Given the description of an element on the screen output the (x, y) to click on. 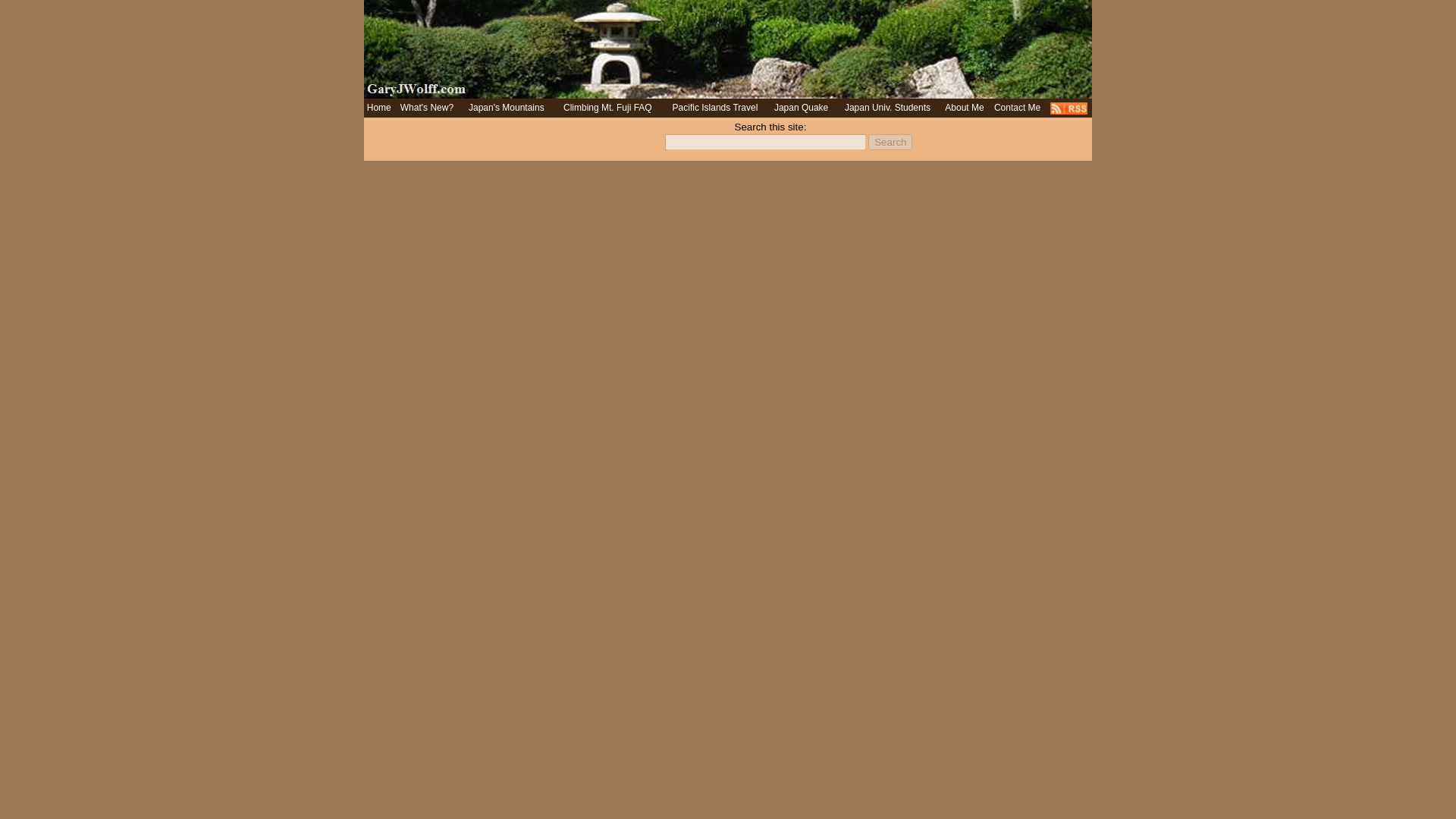
Contact Me (1017, 107)
About Me (964, 107)
Japan Univ. Students (887, 107)
Pacific Islands Travel (715, 107)
Japan Quake (801, 107)
What's New? (426, 107)
Search (889, 141)
Climbing Mt. Fuji FAQ (607, 107)
Japan's Mountains (506, 107)
Home (378, 107)
Search (889, 141)
